Given the description of an element on the screen output the (x, y) to click on. 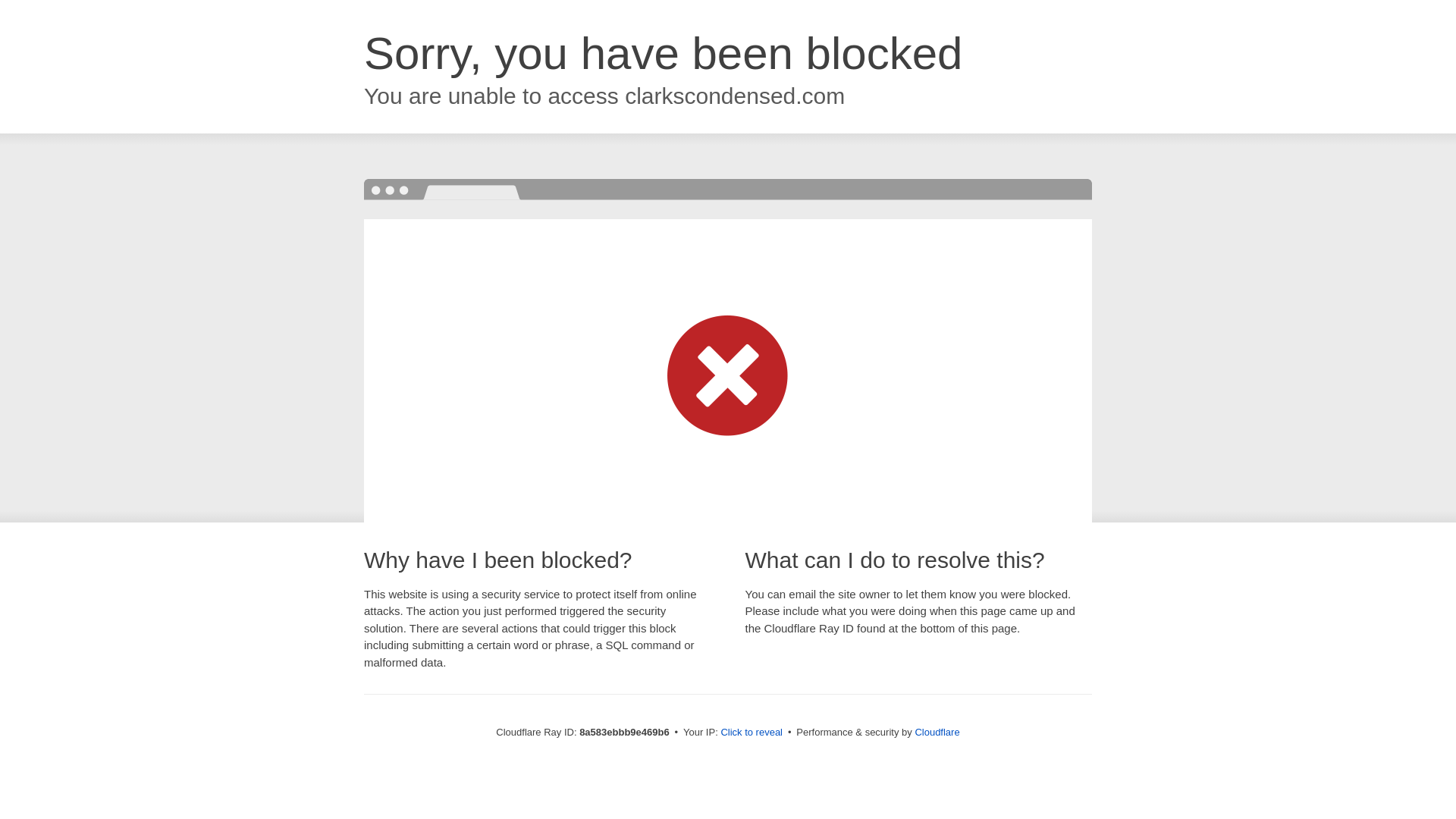
Cloudflare (936, 731)
Click to reveal (751, 732)
